Given the description of an element on the screen output the (x, y) to click on. 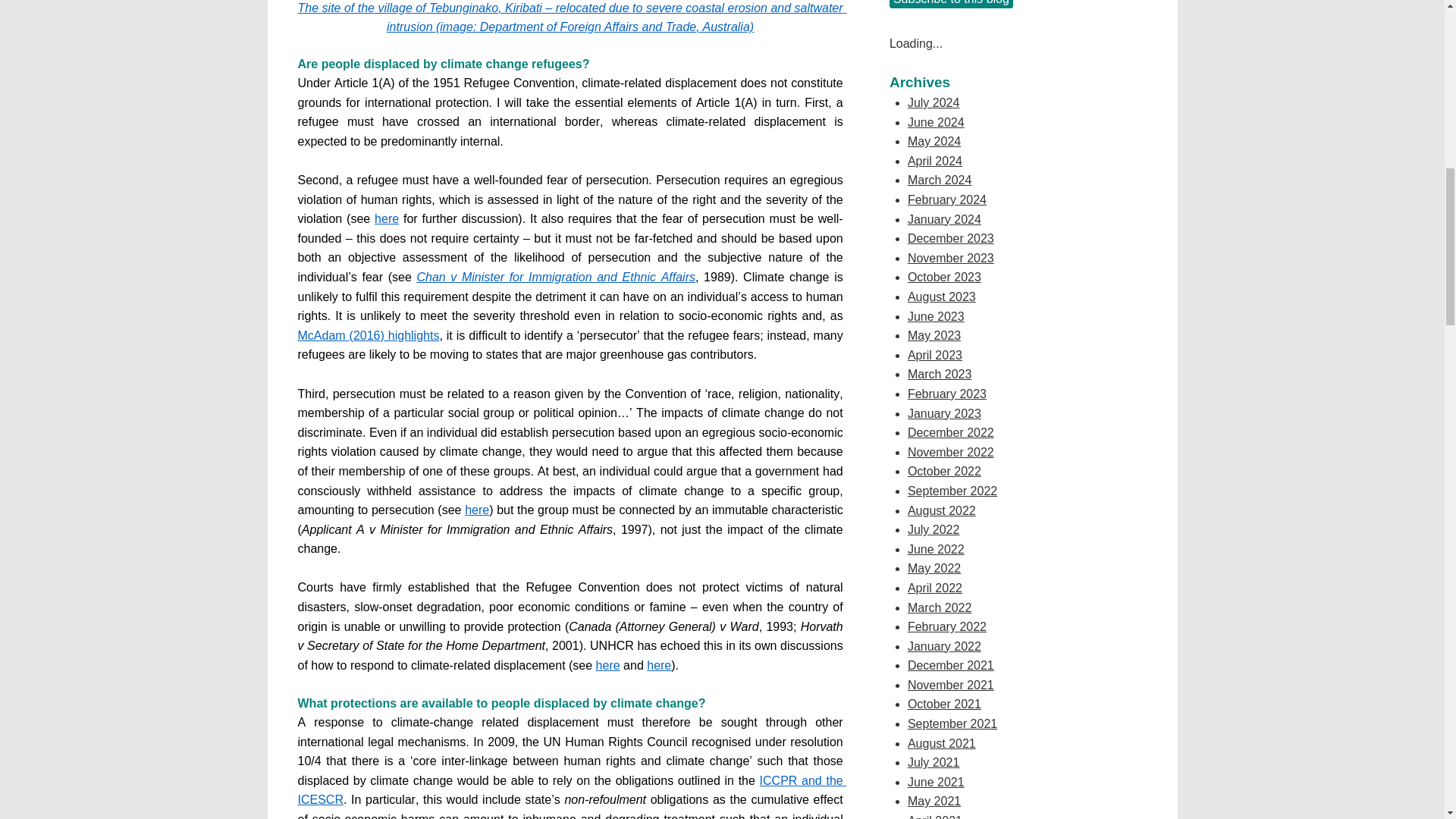
here (386, 218)
Chan v Minister for Immigration and Ethnic Affairs (555, 277)
here (476, 509)
here (658, 665)
here (607, 665)
Subscribe to this blog (951, 4)
ICCPR and the ICESCR (571, 789)
